Given the description of an element on the screen output the (x, y) to click on. 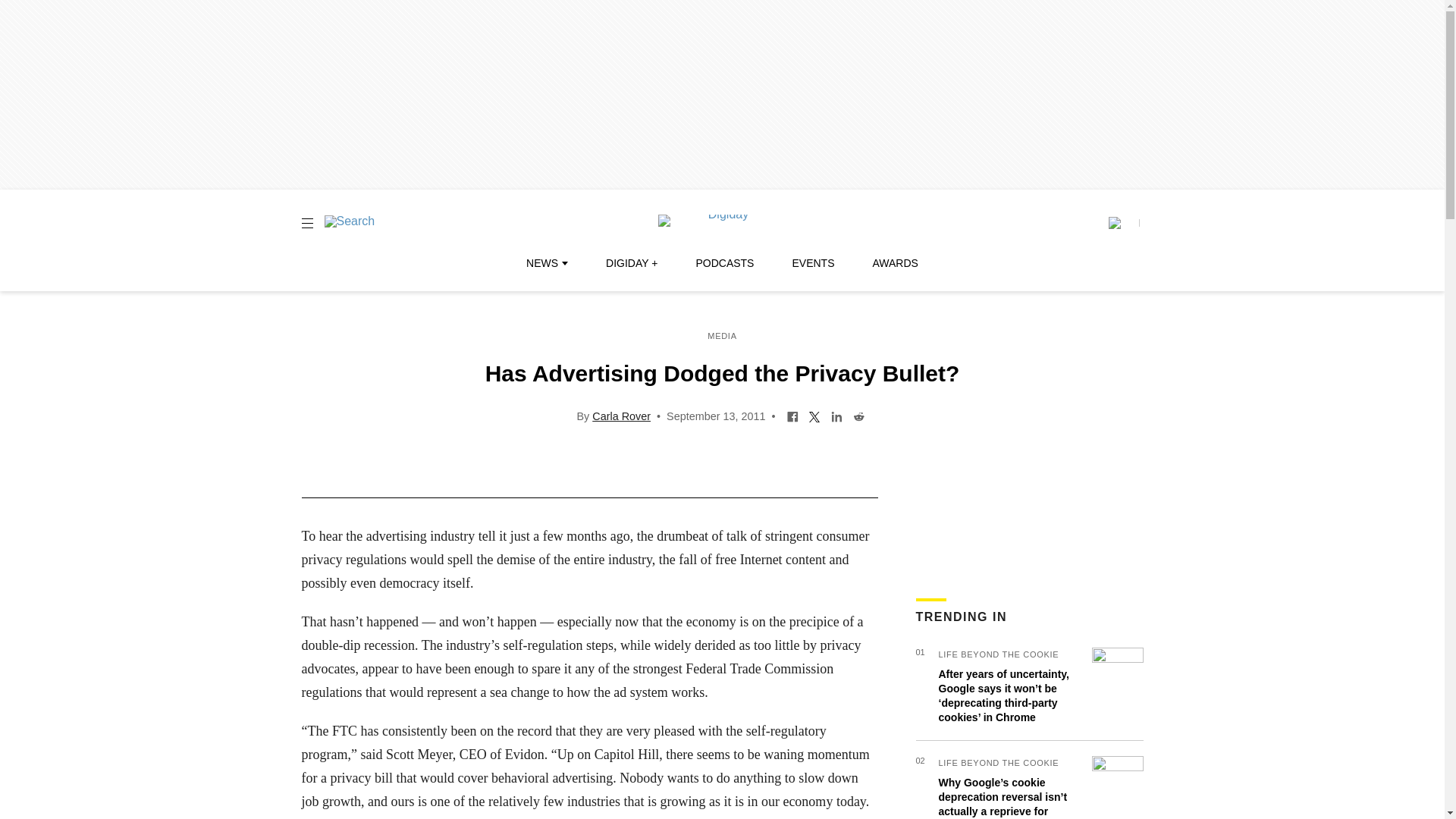
Share on Facebook (792, 415)
PODCASTS (725, 262)
Share on Twitter (814, 415)
AWARDS (894, 262)
Share on LinkedIn (836, 415)
NEWS (546, 262)
Share on Reddit (857, 415)
EVENTS (813, 262)
Subscribe (1123, 223)
